Given the description of an element on the screen output the (x, y) to click on. 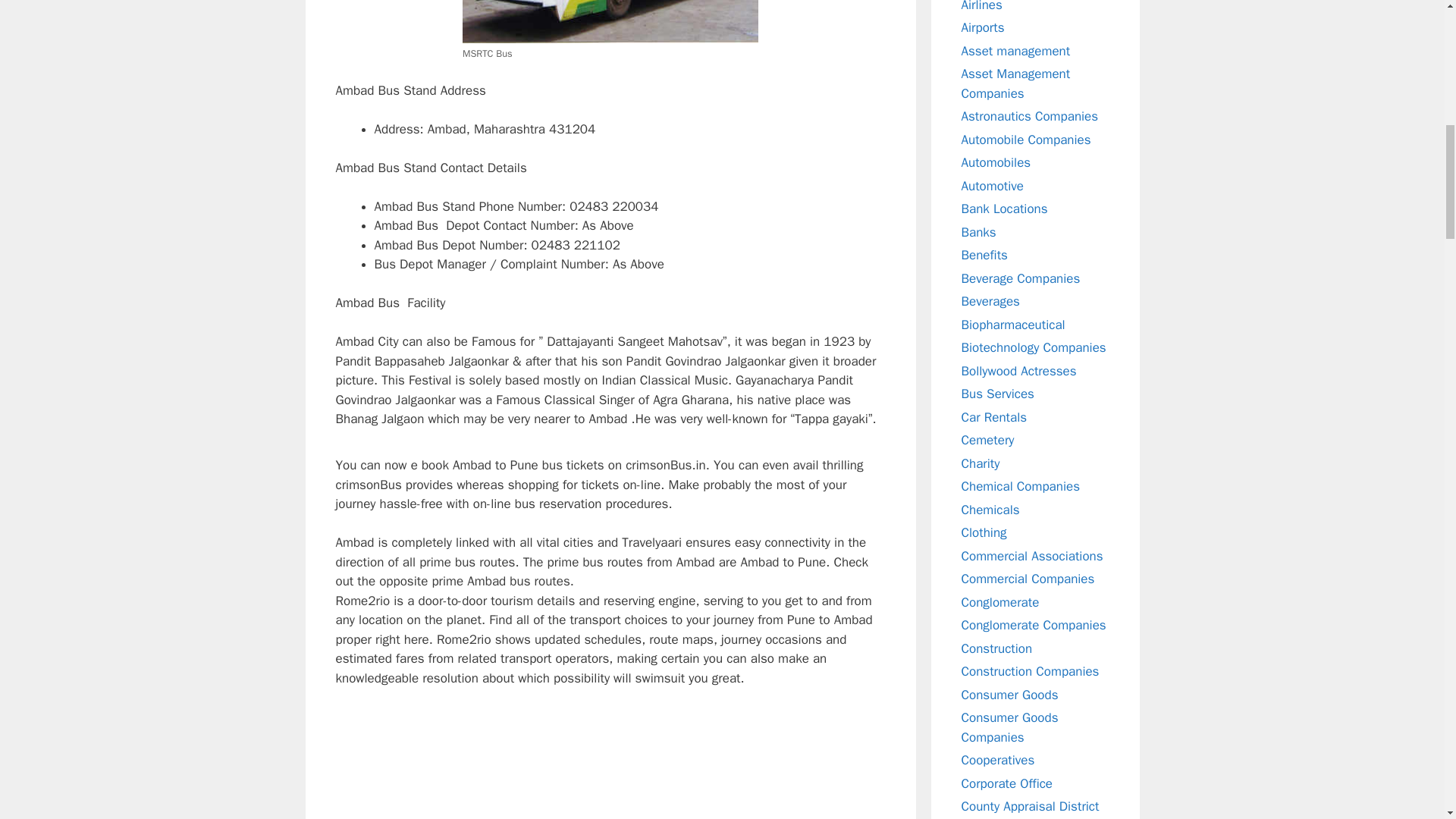
Automotive (992, 185)
Benefits (983, 254)
Asset management (1015, 50)
Banks (977, 232)
Advertisement (609, 763)
Beverage Companies (1020, 277)
Airports (982, 27)
Airlines (981, 6)
Beverages (990, 301)
Asset Management Companies (1015, 83)
Astronautics Companies (1029, 116)
Bank Locations (1004, 208)
Automobile Companies (1025, 139)
Automobiles (995, 162)
